Given the description of an element on the screen output the (x, y) to click on. 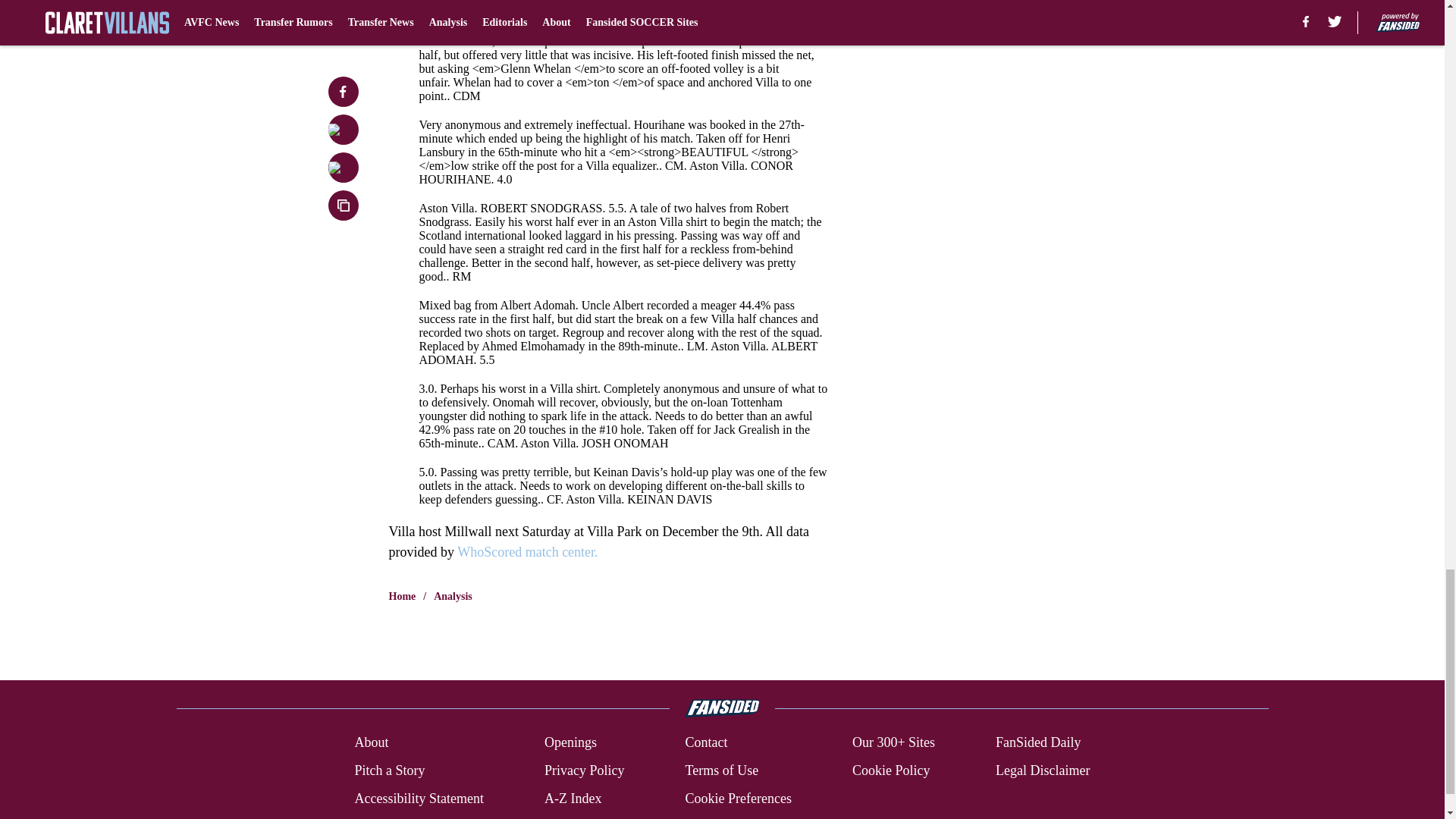
Cookie Preferences (737, 798)
Accessibility Statement (418, 798)
A-Z Index (572, 798)
Openings (570, 742)
Home (401, 596)
Analysis (452, 596)
Contact (705, 742)
FanSided Daily (1038, 742)
WhoScored match center. (526, 551)
Privacy Policy (584, 770)
